Given the description of an element on the screen output the (x, y) to click on. 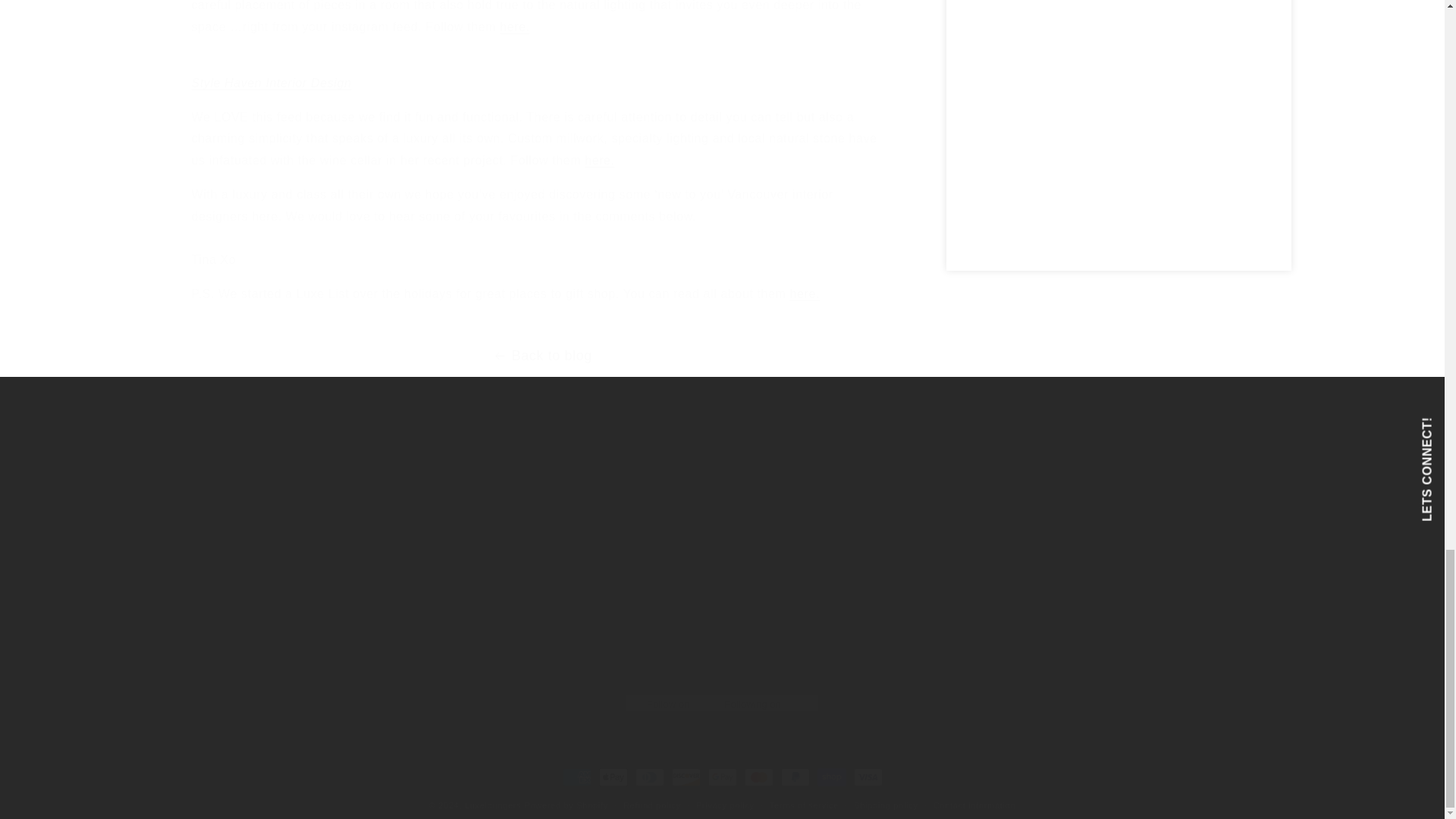
Back to blog (541, 355)
